Given the description of an element on the screen output the (x, y) to click on. 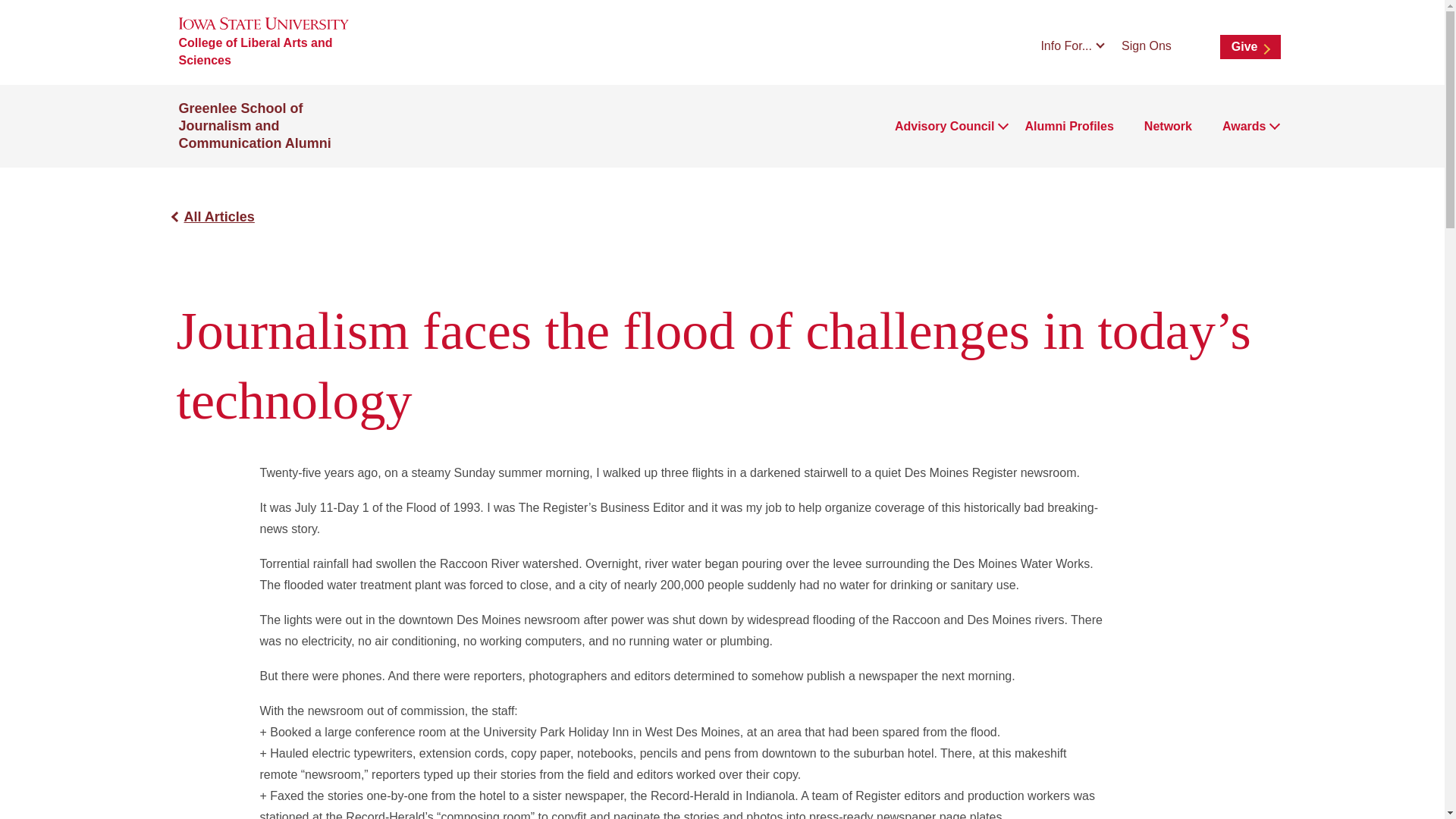
Give (1250, 46)
Awards (1244, 126)
Alumni Profiles (1069, 126)
Info For... (1072, 46)
Search (1195, 45)
Greenlee School of Journalism and Communication Alumni (255, 125)
College of Liberal Arts and Sciences (283, 51)
Advisory Council (944, 126)
Sign Ons (1146, 45)
All Articles (218, 216)
Network (1168, 126)
